Given the description of an element on the screen output the (x, y) to click on. 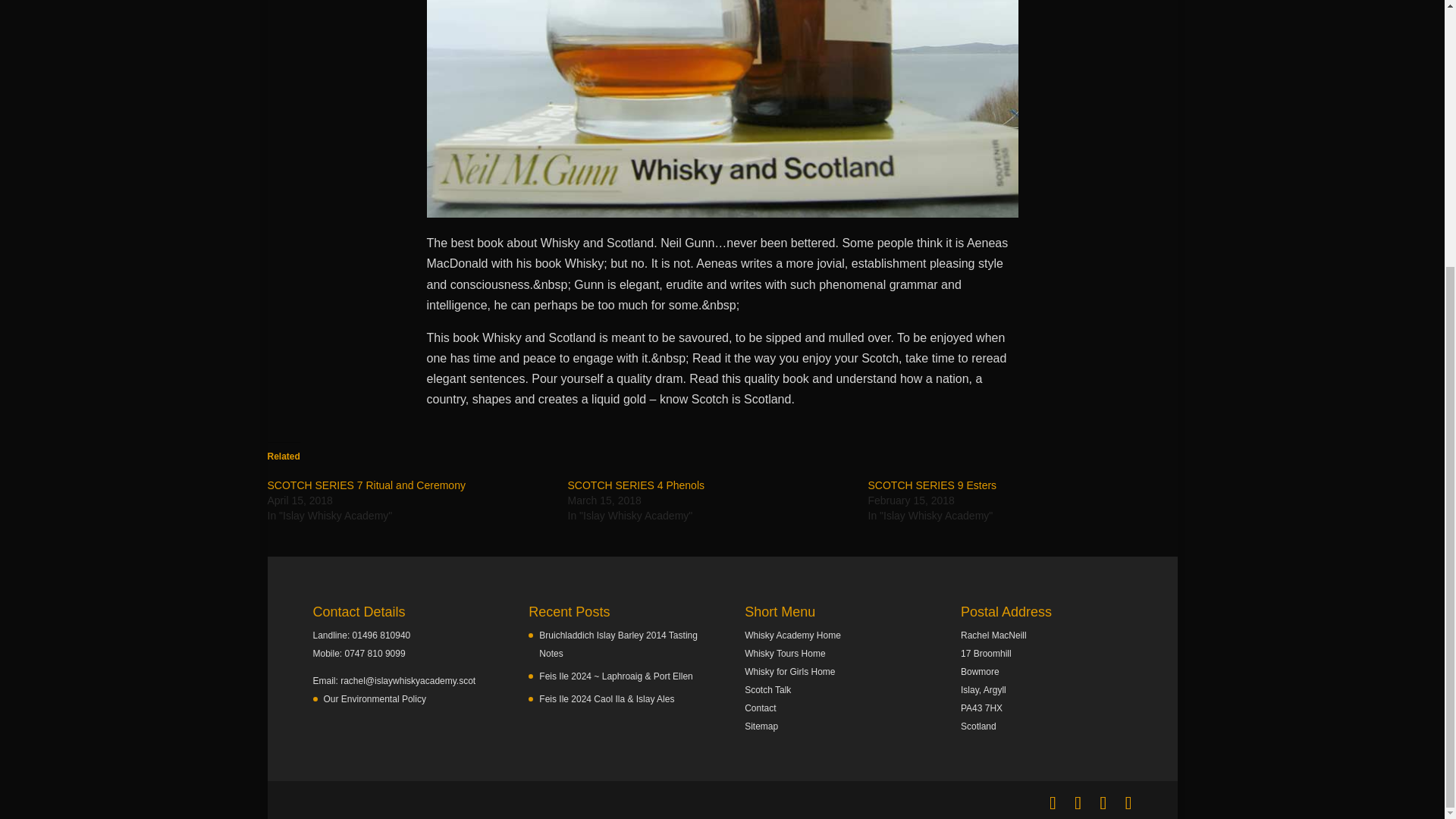
SCOTCH SERIES 7 Ritual and Ceremony (365, 485)
Sitemap (760, 726)
SCOTCH SERIES 9 Esters (931, 485)
SCOTCH SERIES 7 Ritual and Ceremony (365, 485)
Our Environmental Policy (374, 698)
SCOTCH SERIES 4 Phenols (635, 485)
Bruichladdich Islay Barley 2014 Tasting Notes (617, 644)
SCOTCH SERIES 4 Phenols (635, 485)
SCOTCH SERIES 9 Esters (931, 485)
